Given the description of an element on the screen output the (x, y) to click on. 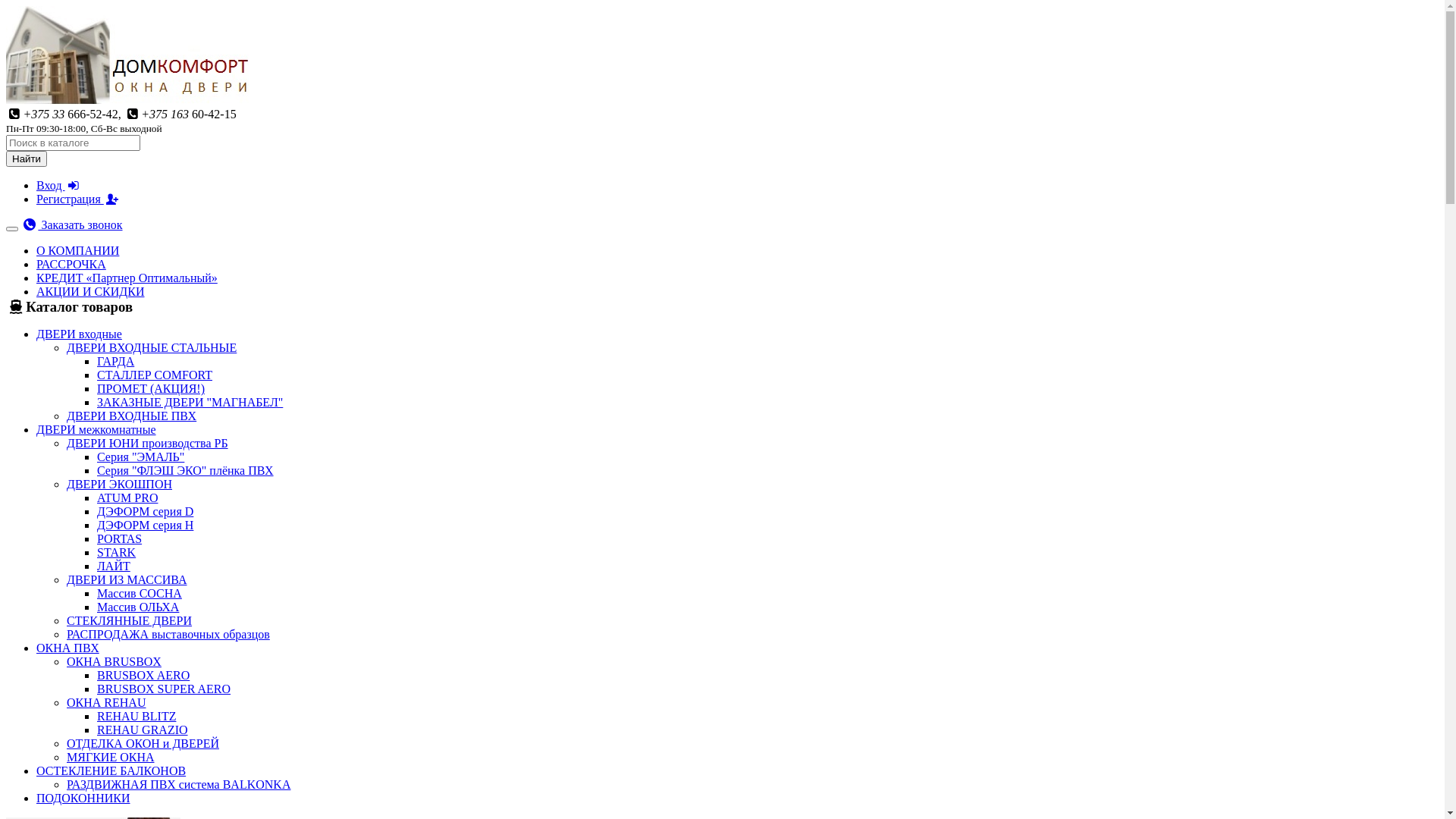
REHAU BLITZ Element type: text (136, 715)
STARK Element type: text (116, 552)
REHAU GRAZIO Element type: text (142, 729)
ATUM PRO Element type: text (127, 497)
PORTAS Element type: text (119, 538)
BRUSBOX SUPER AERO Element type: text (163, 688)
BRUSBOX AERO Element type: text (143, 674)
